Given the description of an element on the screen output the (x, y) to click on. 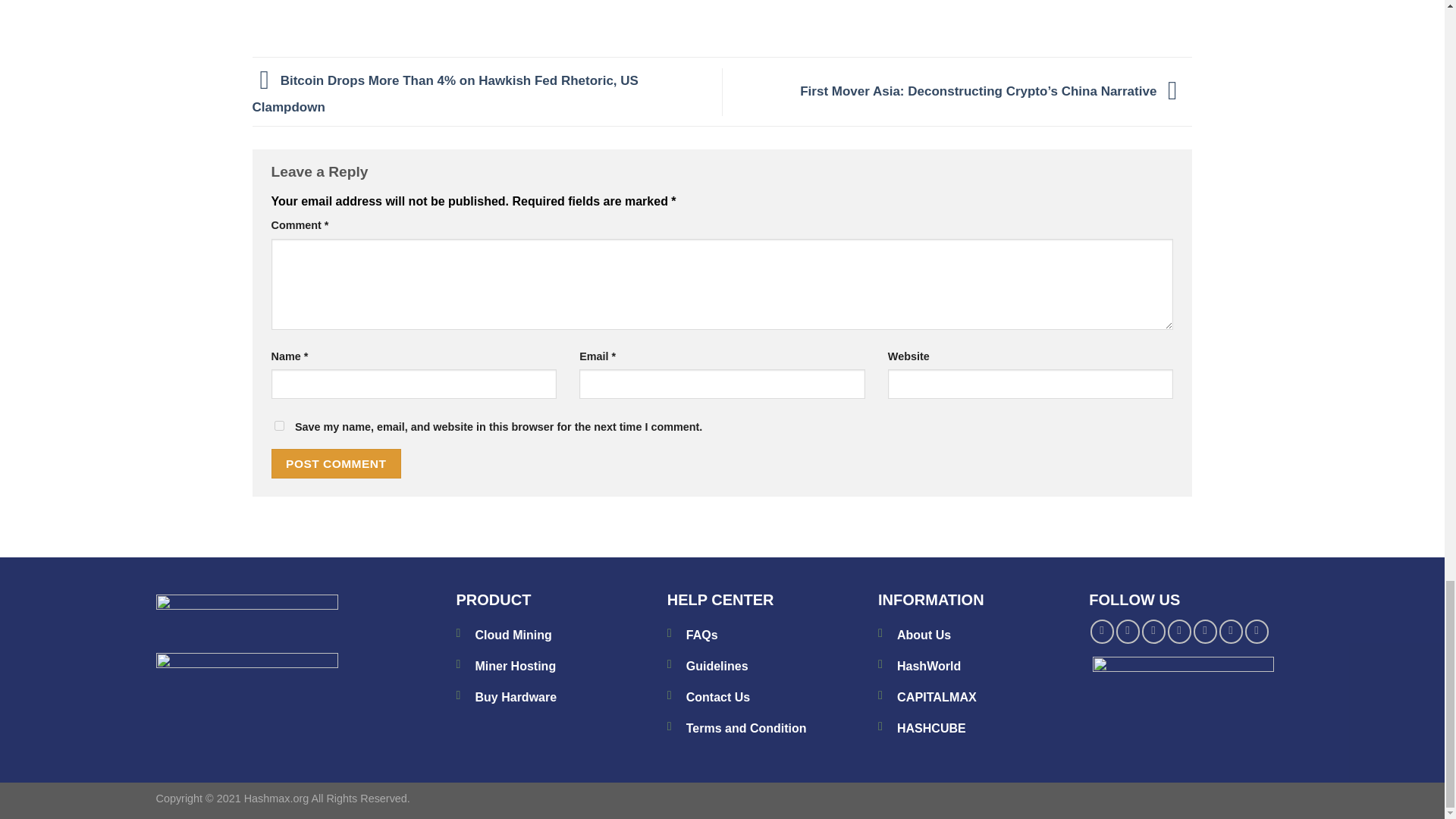
Post Comment (335, 463)
yes (279, 425)
FAQs (701, 634)
Follow on Twitter (1153, 630)
Follow on Pinterest (1205, 630)
Follow on Facebook (1101, 630)
Buy Hardware (515, 697)
Follow on Instagram (1128, 630)
Miner Hosting (515, 666)
Post Comment (335, 463)
